Given the description of an element on the screen output the (x, y) to click on. 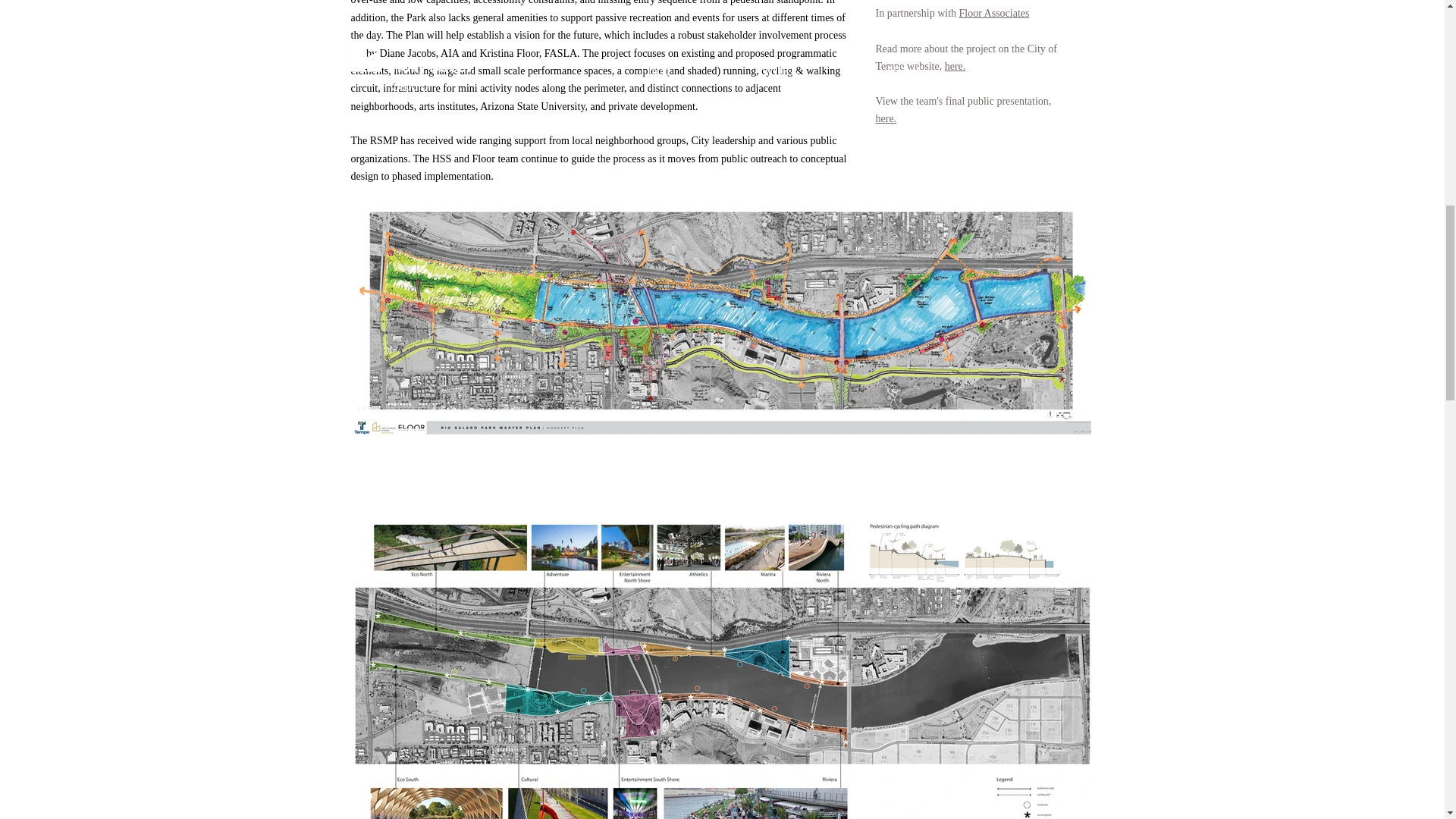
here. (885, 118)
here. (955, 66)
Floor Associates (994, 12)
